Given the description of an element on the screen output the (x, y) to click on. 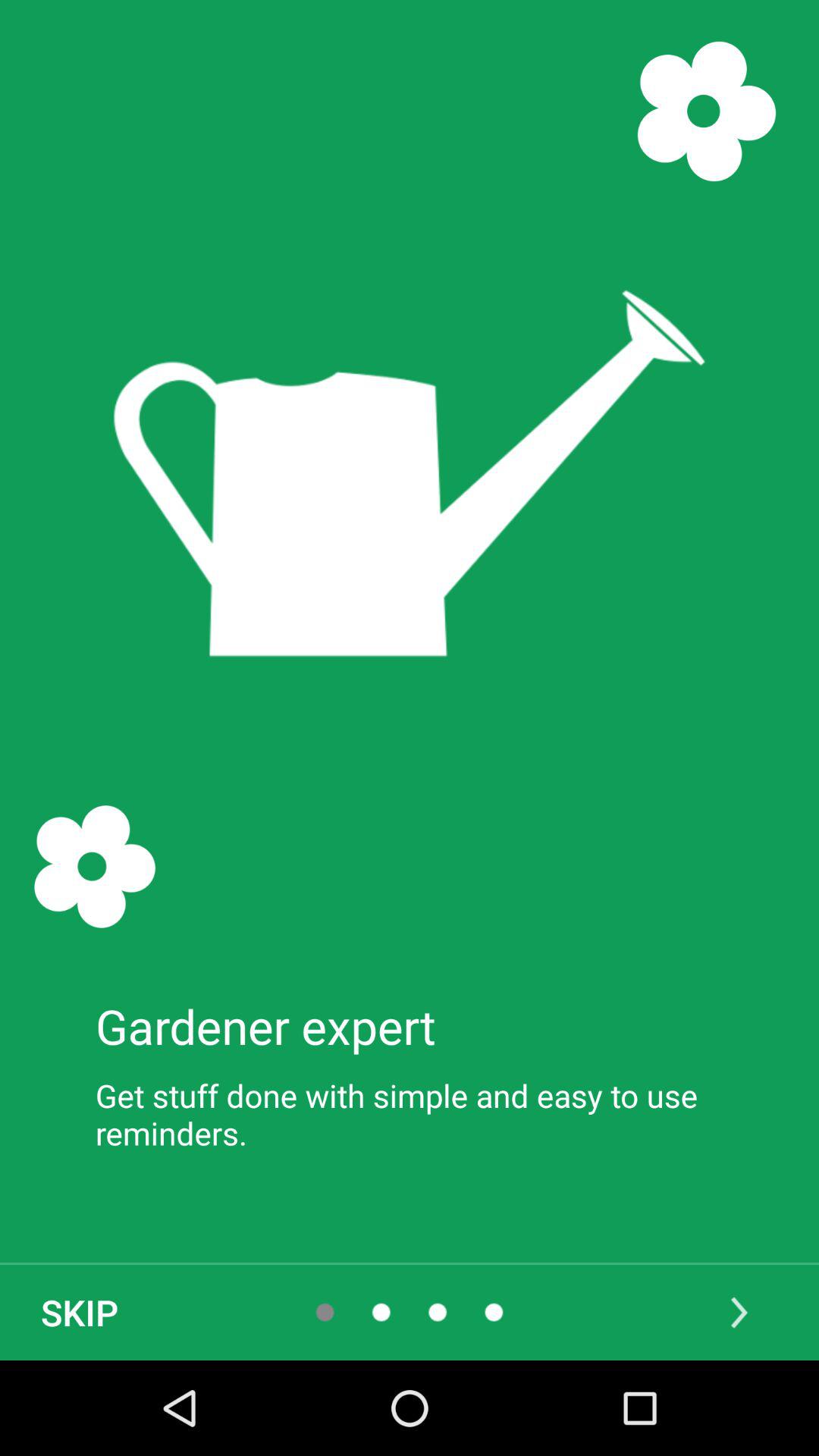
choose the skip item (79, 1312)
